Given the description of an element on the screen output the (x, y) to click on. 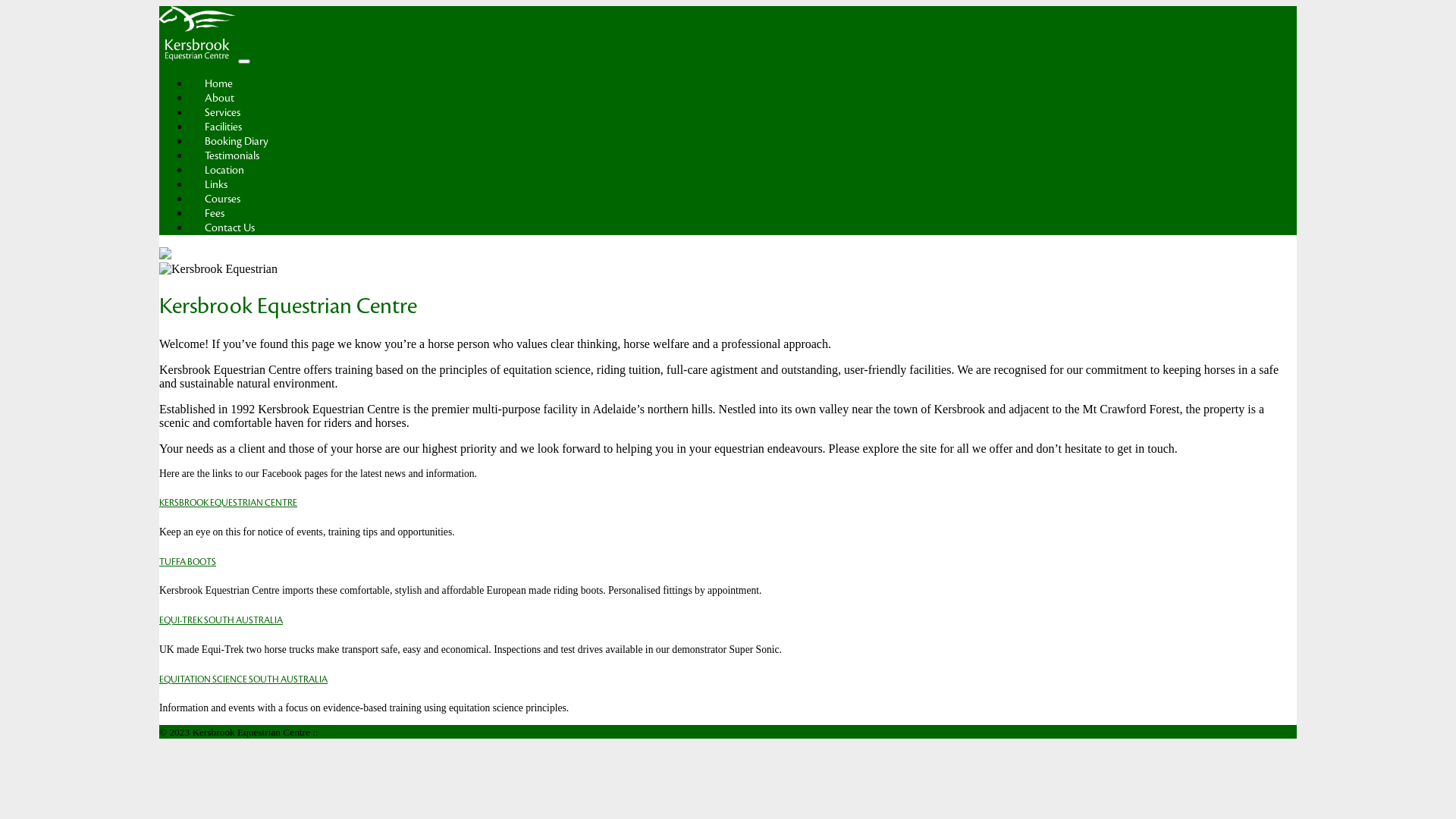
Privacy Information Element type: text (361, 731)
Home Element type: text (218, 83)
About Element type: text (219, 97)
Fees Element type: text (214, 213)
TUFFA BOOTS Element type: text (187, 561)
Booking Diary Element type: text (236, 141)
EQUITATION SCIENCE SOUTH AUSTRALIA Element type: text (243, 679)
KERSBROOK EQUESTRIAN CENTRE Element type: text (228, 502)
Contact Us Element type: text (229, 227)
Services Element type: text (222, 112)
Facilities Element type: text (223, 126)
Location Element type: text (224, 170)
EQUI-TREK SOUTH AUSTRALIA Element type: text (220, 620)
Testimonials Element type: text (231, 155)
Courses Element type: text (222, 198)
Links Element type: text (215, 184)
